Given the description of an element on the screen output the (x, y) to click on. 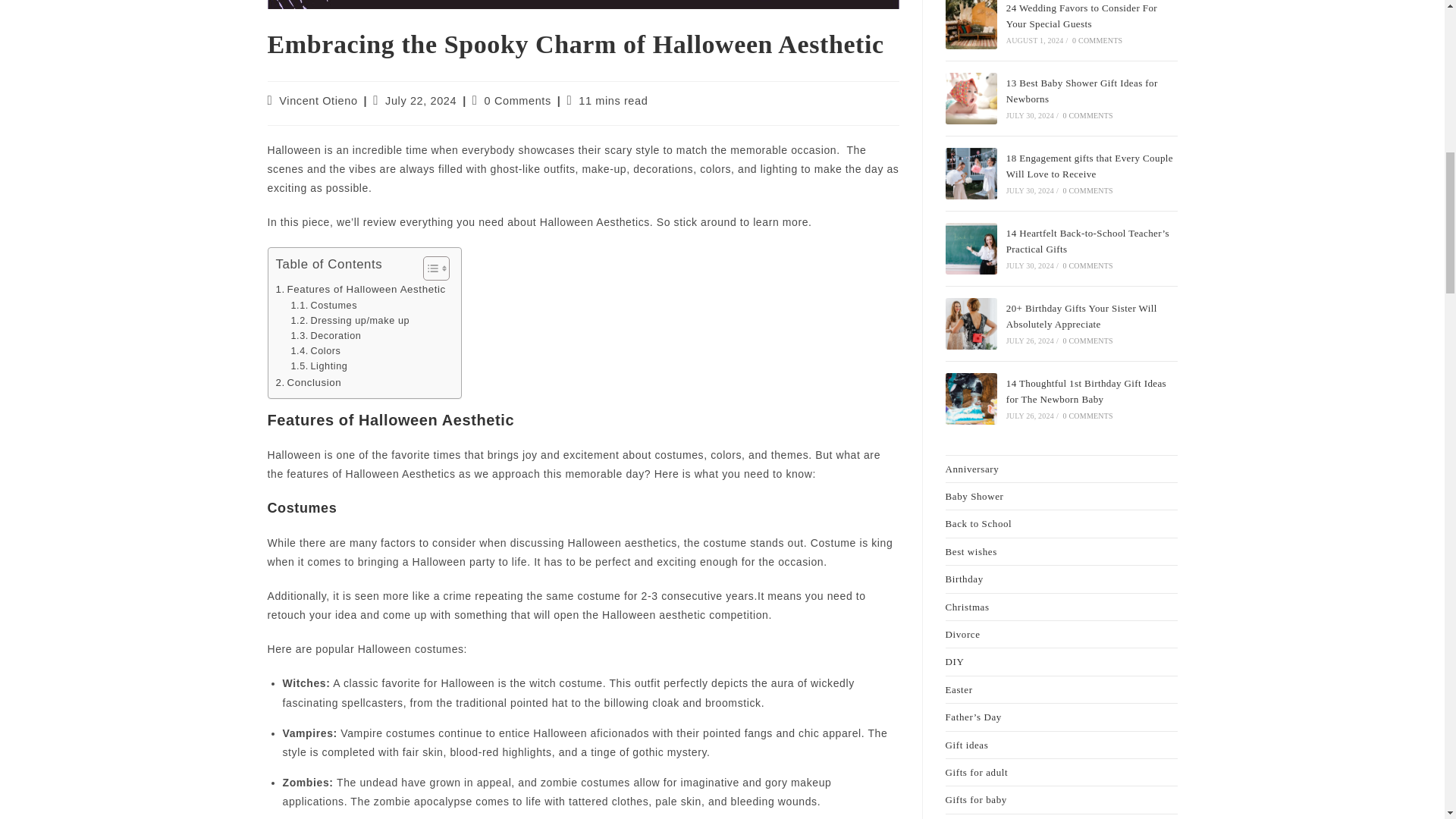
24 Wedding Favors to Consider For Your Special Guests (969, 24)
Lighting (318, 365)
Conclusion (309, 382)
Costumes (322, 305)
13 Best Baby Shower Gift Ideas for Newborns (969, 98)
Features of Halloween Aesthetic (360, 289)
Posts by Vincent Otieno (317, 101)
18 Engagement gifts that Every Couple Will Love to Receive (969, 173)
14 Thoughtful 1st Birthday Gift Ideas for The Newborn Baby (969, 399)
Decoration (325, 335)
Colors (314, 350)
